Given the description of an element on the screen output the (x, y) to click on. 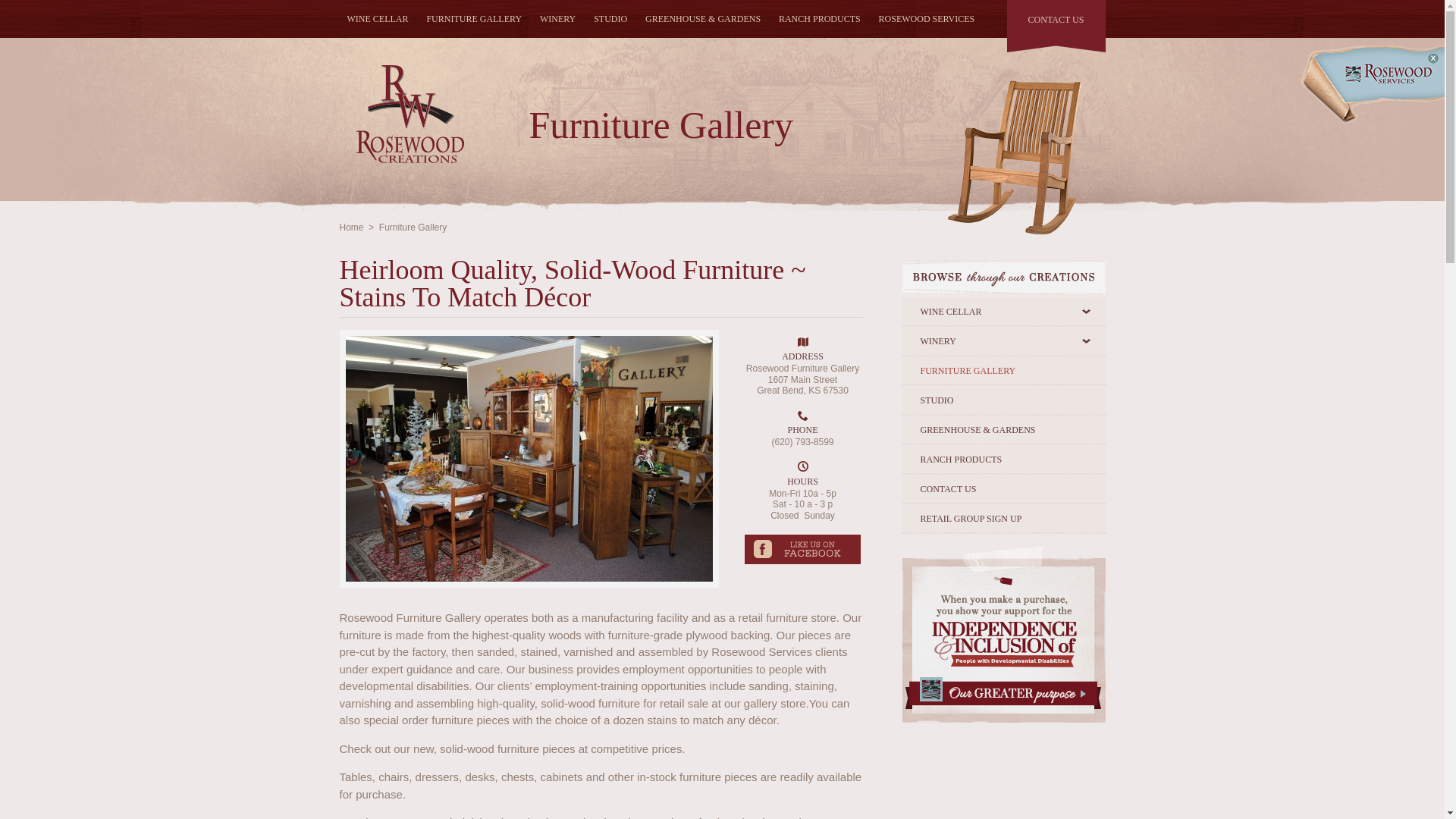
Close Popup (1433, 58)
RANCH PRODUCTS (819, 18)
WINE CELLAR (1003, 311)
WINERY (557, 18)
CONTACT US (1056, 22)
Home (351, 226)
Furniture Gallery (412, 226)
WINERY (1003, 341)
WINE CELLAR (377, 18)
STUDIO (610, 18)
FURNITURE GALLERY (474, 18)
ROSEWOOD SERVICES (926, 18)
